Given the description of an element on the screen output the (x, y) to click on. 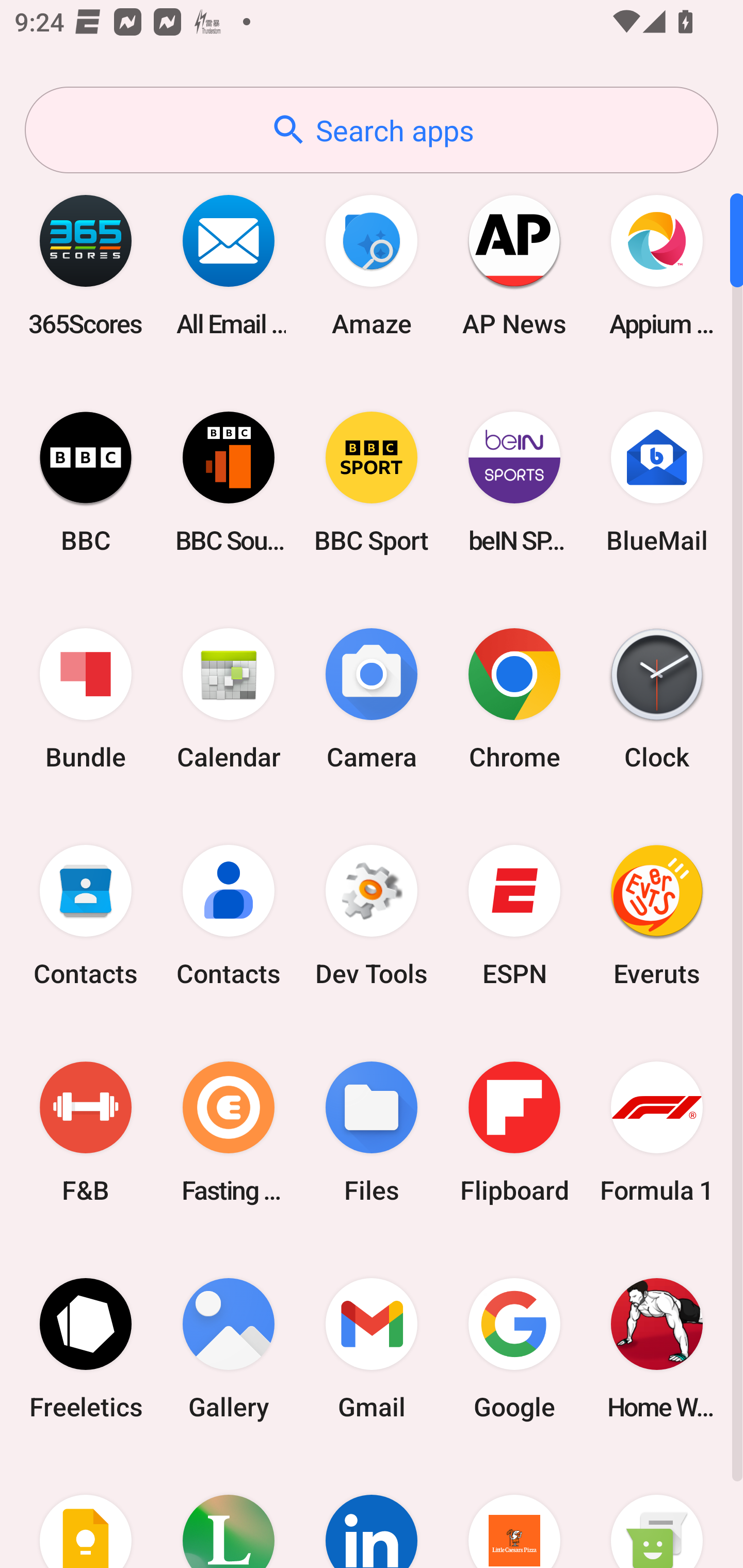
  Search apps (371, 130)
365Scores (85, 264)
All Email Connect (228, 264)
Amaze (371, 264)
AP News (514, 264)
Appium Settings (656, 264)
BBC (85, 482)
BBC Sounds (228, 482)
BBC Sport (371, 482)
beIN SPORTS (514, 482)
BlueMail (656, 482)
Bundle (85, 699)
Calendar (228, 699)
Camera (371, 699)
Chrome (514, 699)
Clock (656, 699)
Contacts (85, 915)
Contacts (228, 915)
Dev Tools (371, 915)
ESPN (514, 915)
Everuts (656, 915)
F&B (85, 1131)
Fasting Coach (228, 1131)
Files (371, 1131)
Flipboard (514, 1131)
Formula 1 (656, 1131)
Freeletics (85, 1348)
Gallery (228, 1348)
Gmail (371, 1348)
Google (514, 1348)
Home Workout (656, 1348)
